Given the description of an element on the screen output the (x, y) to click on. 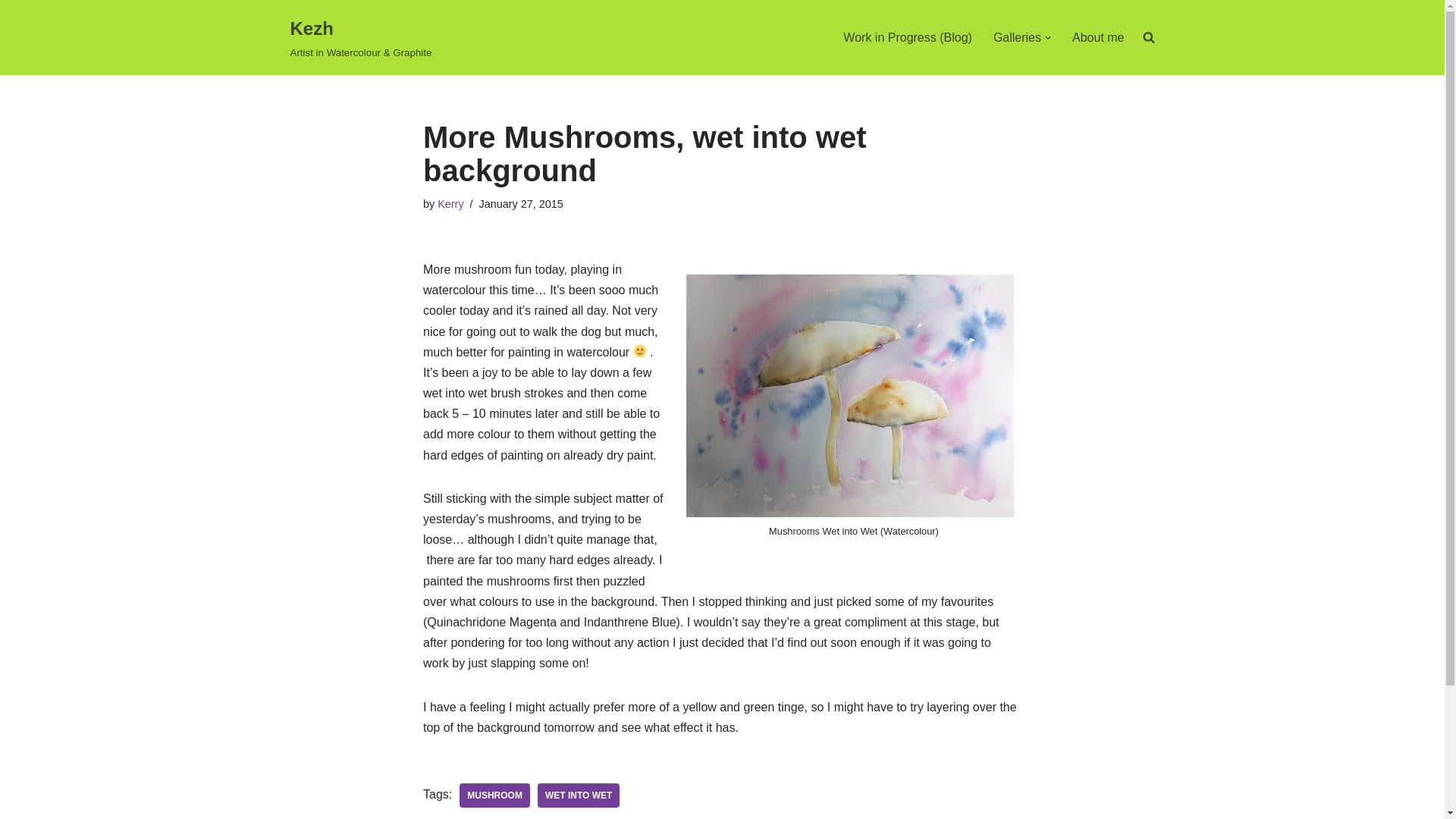
Kerry Element type: text (450, 203)
WET INTO WET Element type: text (578, 795)
About me Element type: text (1097, 37)
MUSHROOM Element type: text (494, 795)
Skip to content Element type: text (11, 31)
Work in Progress (Blog) Element type: text (907, 37)
Galleries Element type: text (1017, 37)
Kezh
Artist in Watercolour & Graphite Element type: text (360, 37)
